Given the description of an element on the screen output the (x, y) to click on. 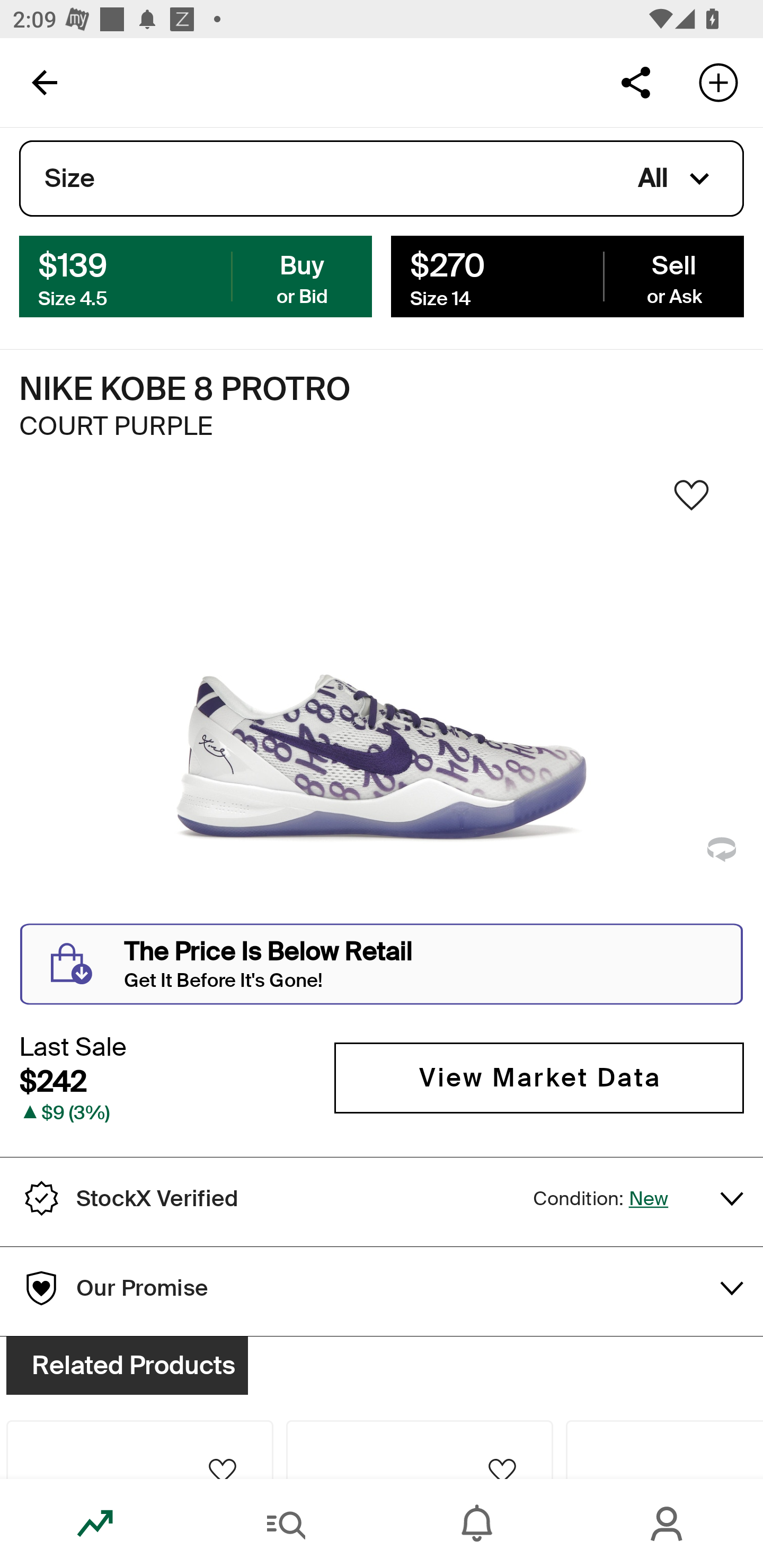
Share (635, 81)
Add (718, 81)
Size All (381, 178)
$139 Buy Size 4.5 or Bid (195, 275)
$270 Sell Size 14 or Ask (566, 275)
Sneaker Image (381, 699)
View Market Data (538, 1077)
Search (285, 1523)
Inbox (476, 1523)
Account (667, 1523)
